Given the description of an element on the screen output the (x, y) to click on. 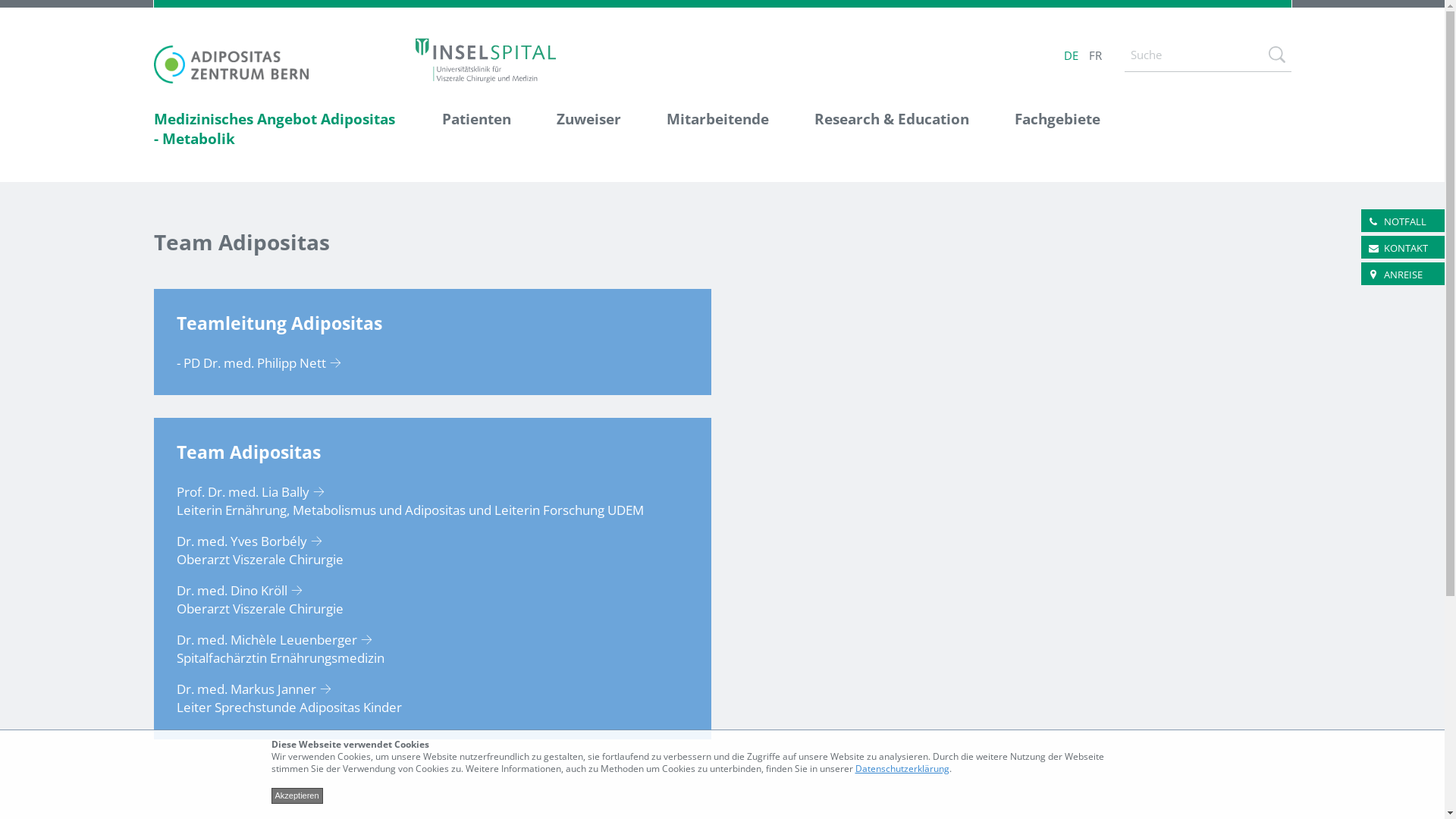
Zuweiser Element type: text (588, 130)
Research & Education Element type: text (891, 130)
Akzeptieren Element type: text (297, 795)
Patienten Element type: text (475, 130)
Mitarbeitende Element type: text (716, 130)
Medizinisches Angebot Adipositas - Metabolik Element type: text (285, 130)
- PD Dr. med. Philipp Nett Element type: text (262, 362)
ANREISE Element type: text (1402, 274)
Dr. med. Markus Janner Element type: text (257, 688)
Suche Element type: text (1275, 54)
Fachgebiete Element type: text (1045, 130)
Bauchzentrum Bern Element type: hover (485, 59)
Adipositaszentrum Bern Element type: hover (230, 64)
Prof. Dr. med. Lia Bally Element type: text (253, 491)
FR Element type: text (1094, 54)
